Given the description of an element on the screen output the (x, y) to click on. 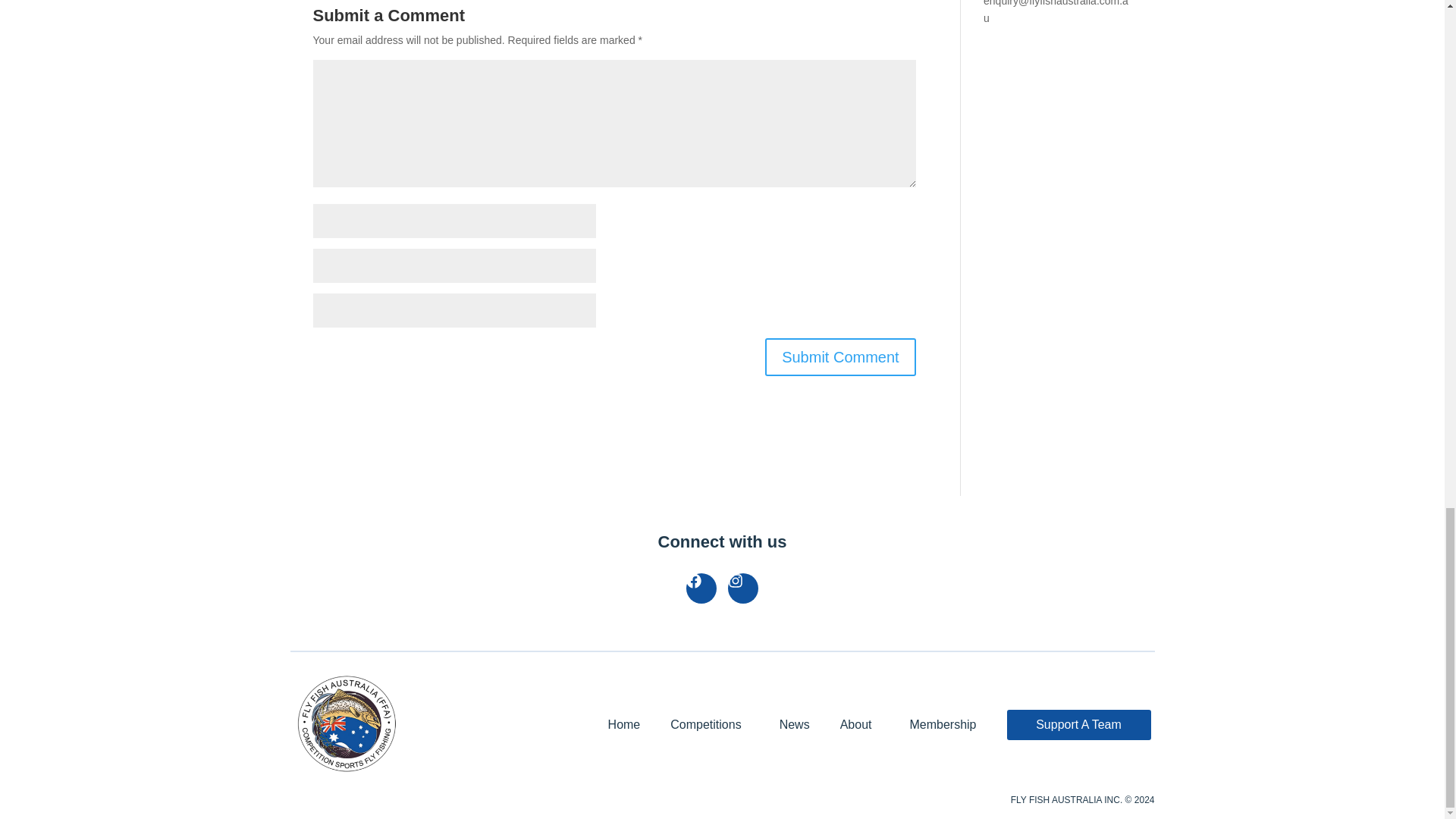
Submit Comment (840, 356)
Submit Comment (840, 356)
